Given the description of an element on the screen output the (x, y) to click on. 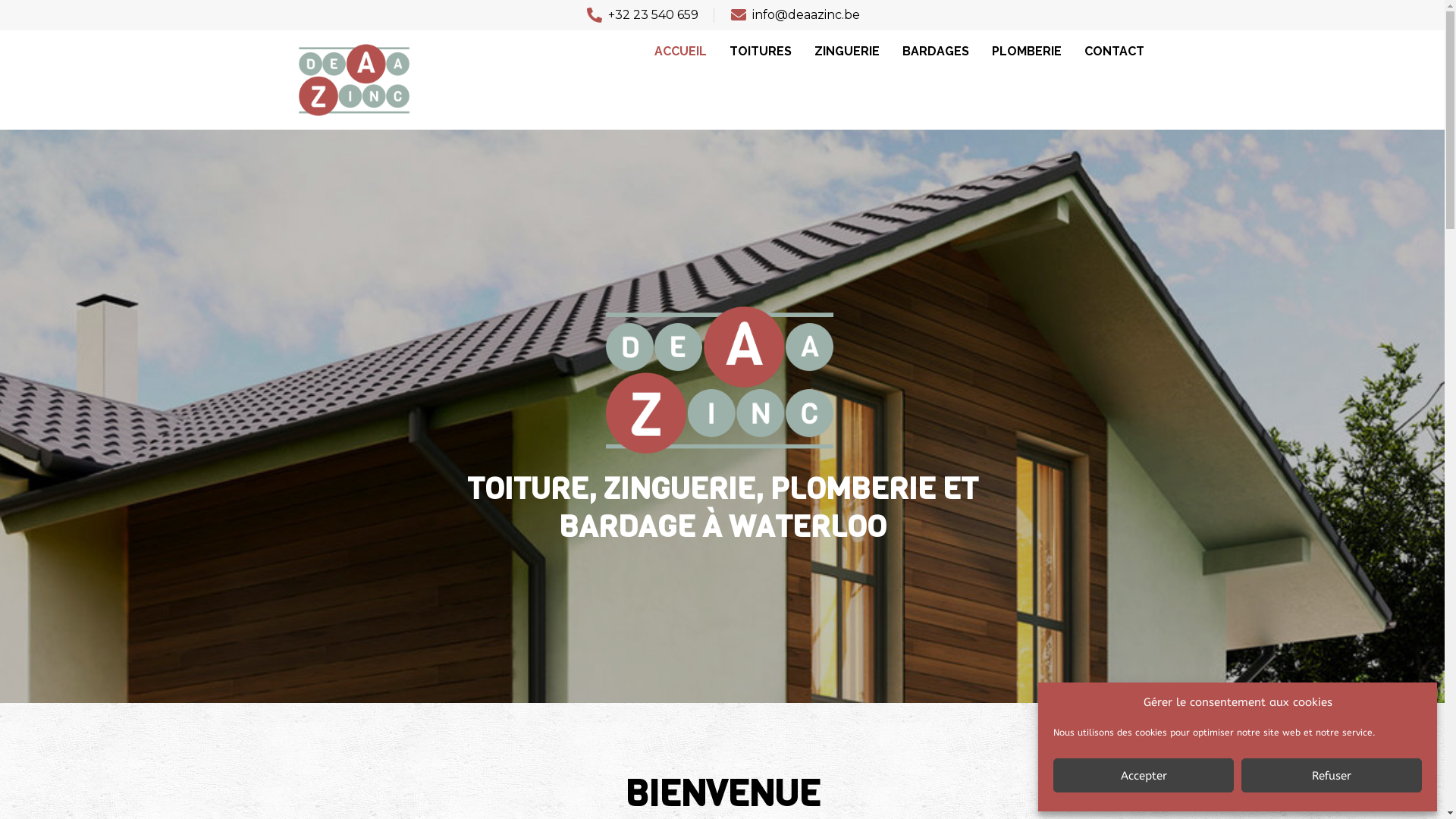
CONTACT Element type: text (1114, 51)
PLOMBERIE Element type: text (1026, 51)
Accepter Element type: text (1143, 775)
ZINGUERIE Element type: text (846, 51)
Refuser Element type: text (1331, 775)
+32 23 540 659 Element type: text (641, 14)
TOITURES Element type: text (760, 51)
BARDAGES Element type: text (935, 51)
info@deaazinc.be Element type: text (794, 14)
ACCUEIL Element type: text (680, 51)
